Given the description of an element on the screen output the (x, y) to click on. 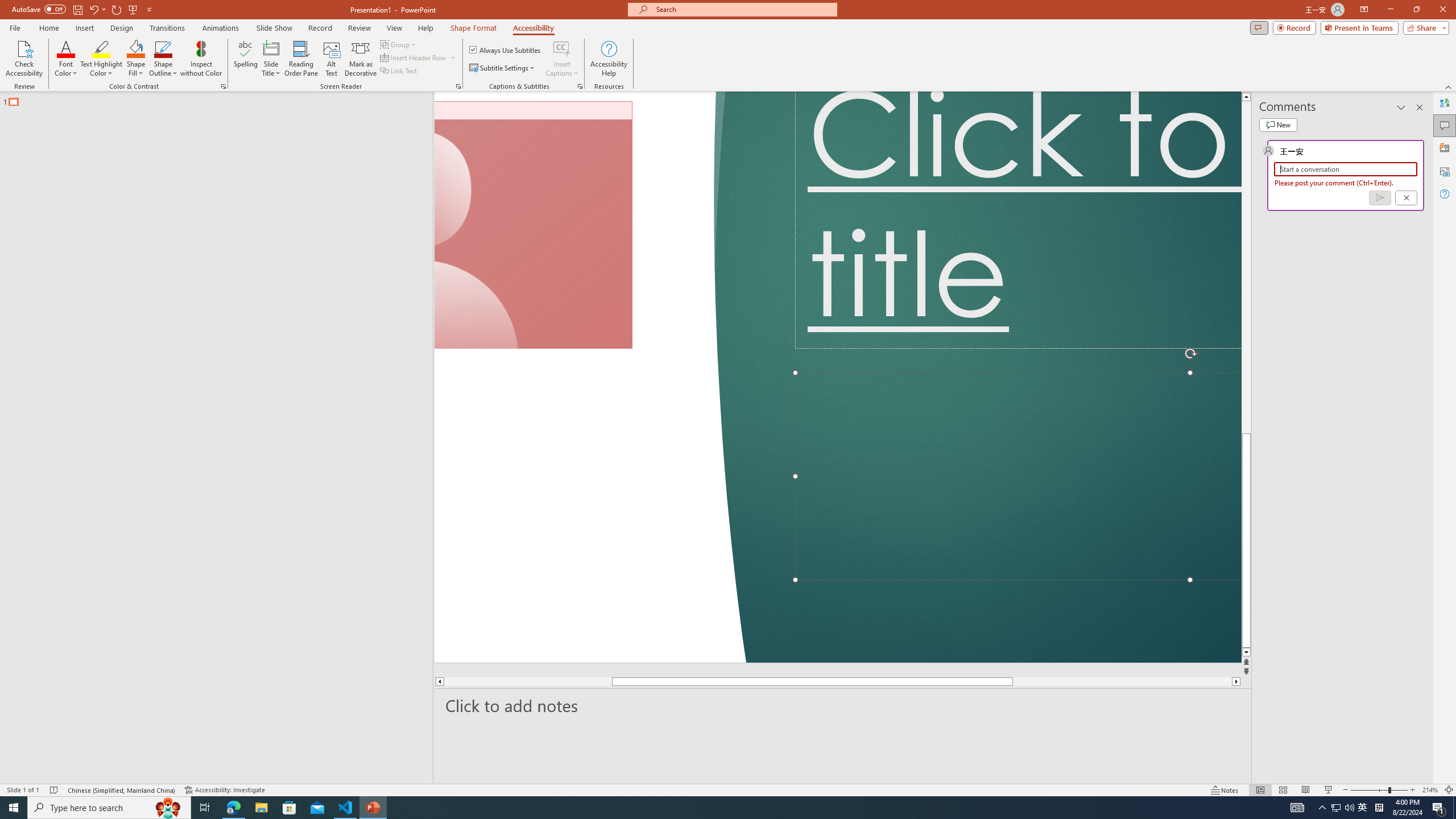
Class: NetUIImage (1025, 107)
Minimize (1353, 18)
Format Painter (63, 112)
File Tab (25, 47)
Bold (98, 102)
Heading 1 (880, 91)
Styles... (1034, 128)
Ribbon Display Options (1436, 125)
